Given the description of an element on the screen output the (x, y) to click on. 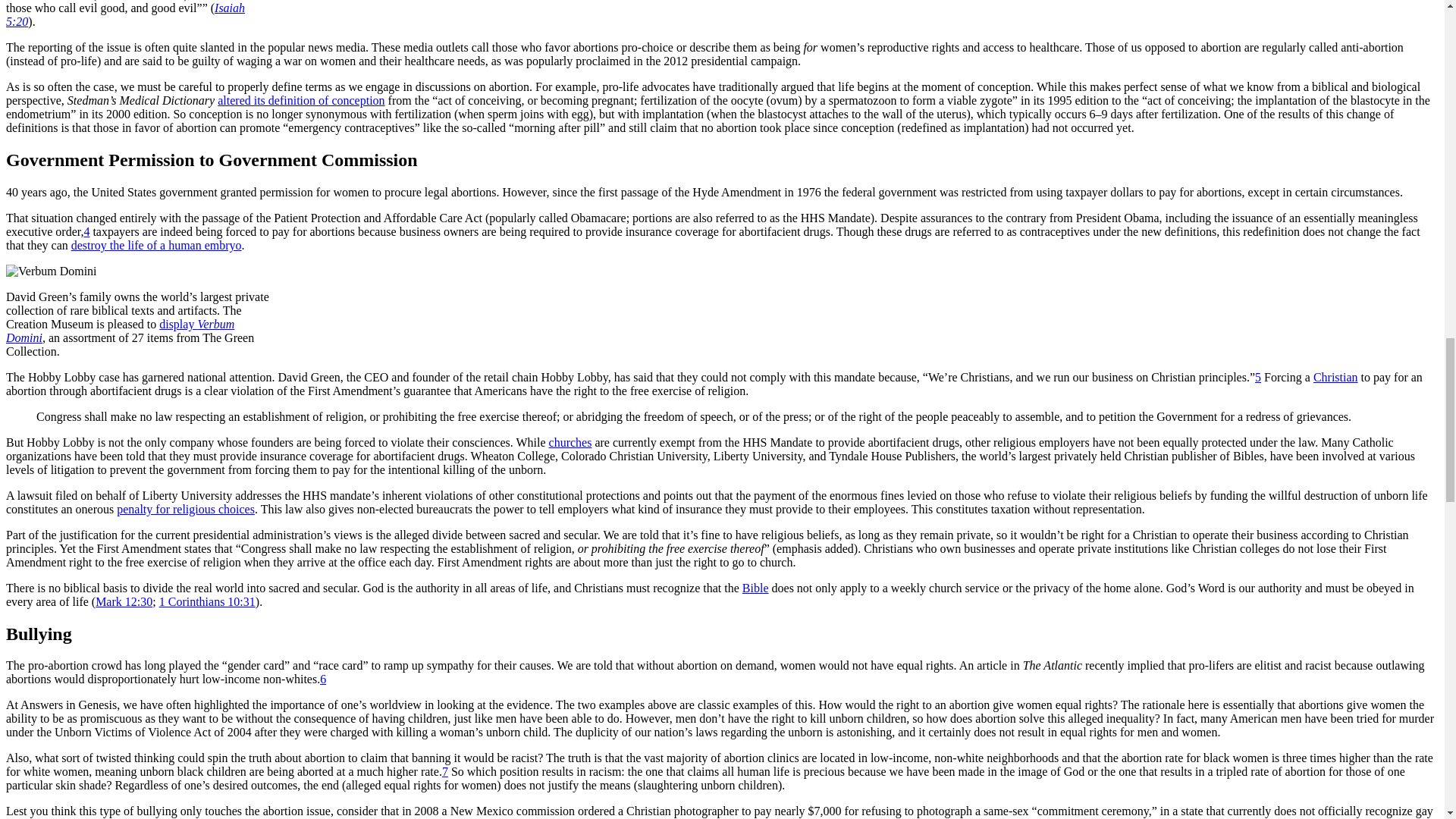
Christian (1335, 377)
Isaiah 5:20 (124, 14)
display Verbum Domini (119, 330)
destroy the life of a human embryo (156, 245)
altered its definition of conception (300, 100)
